Given the description of an element on the screen output the (x, y) to click on. 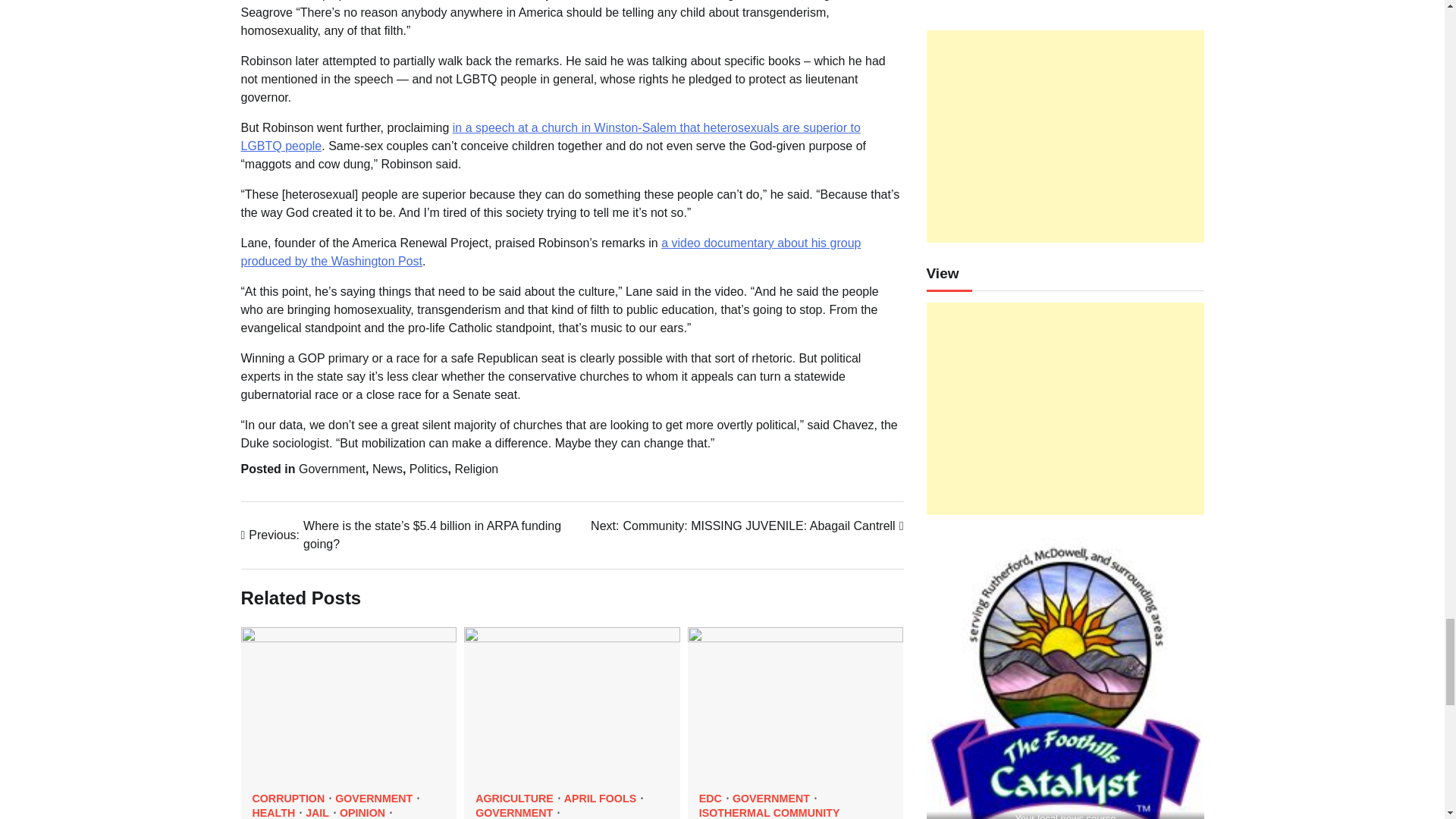
News (387, 468)
Religion (475, 468)
Politics (428, 468)
Government (331, 468)
